Given the description of an element on the screen output the (x, y) to click on. 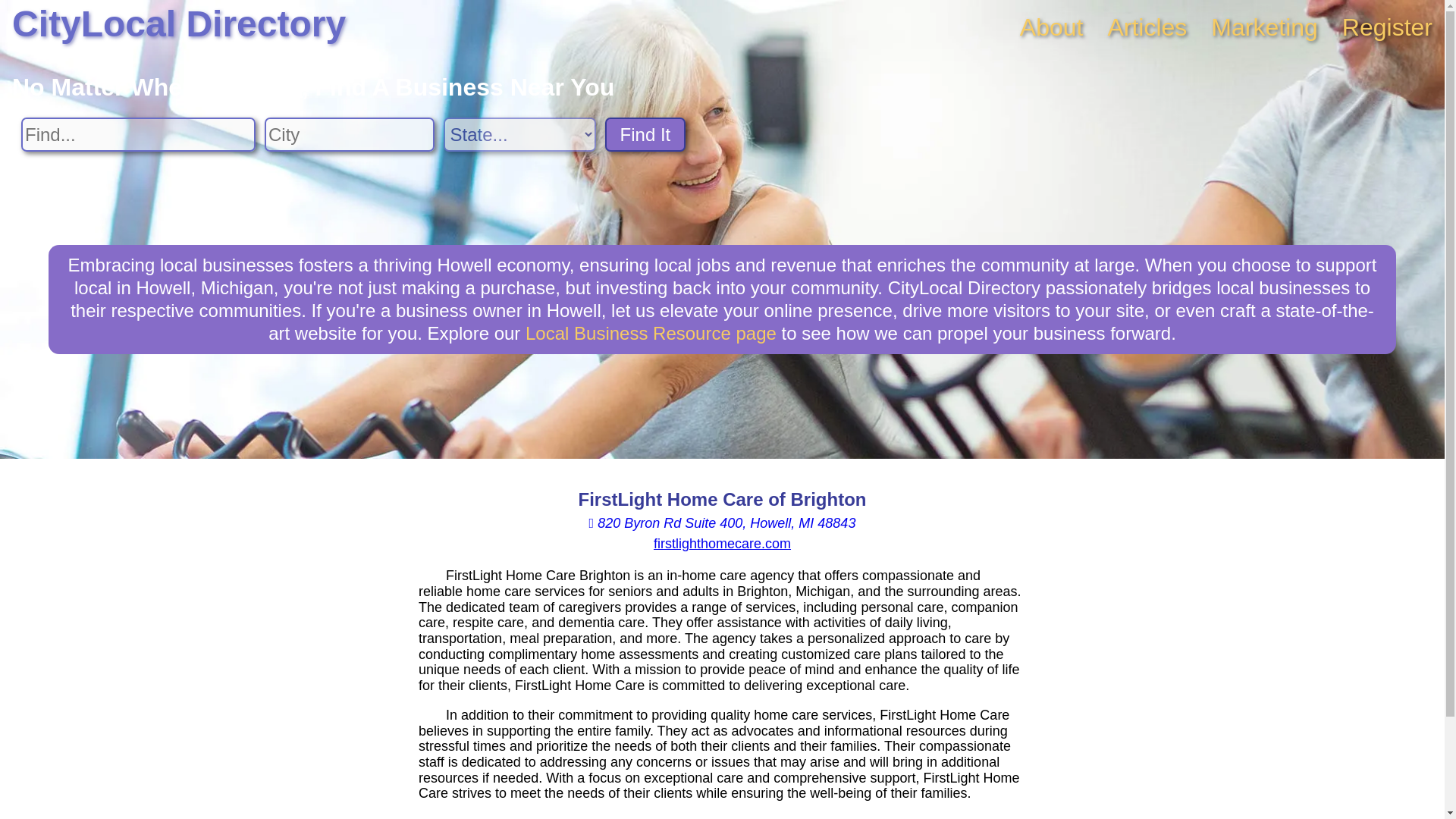
Marketing (1264, 27)
Local Business Resources (650, 332)
About (1051, 27)
firstlighthomecare.com (721, 543)
Find It (645, 134)
Register My Business (1387, 27)
CityLocal Directory (178, 24)
Articles (1146, 27)
About CityLocal Directory (1051, 27)
Visit firstlighthomecare.com (721, 543)
